Given the description of an element on the screen output the (x, y) to click on. 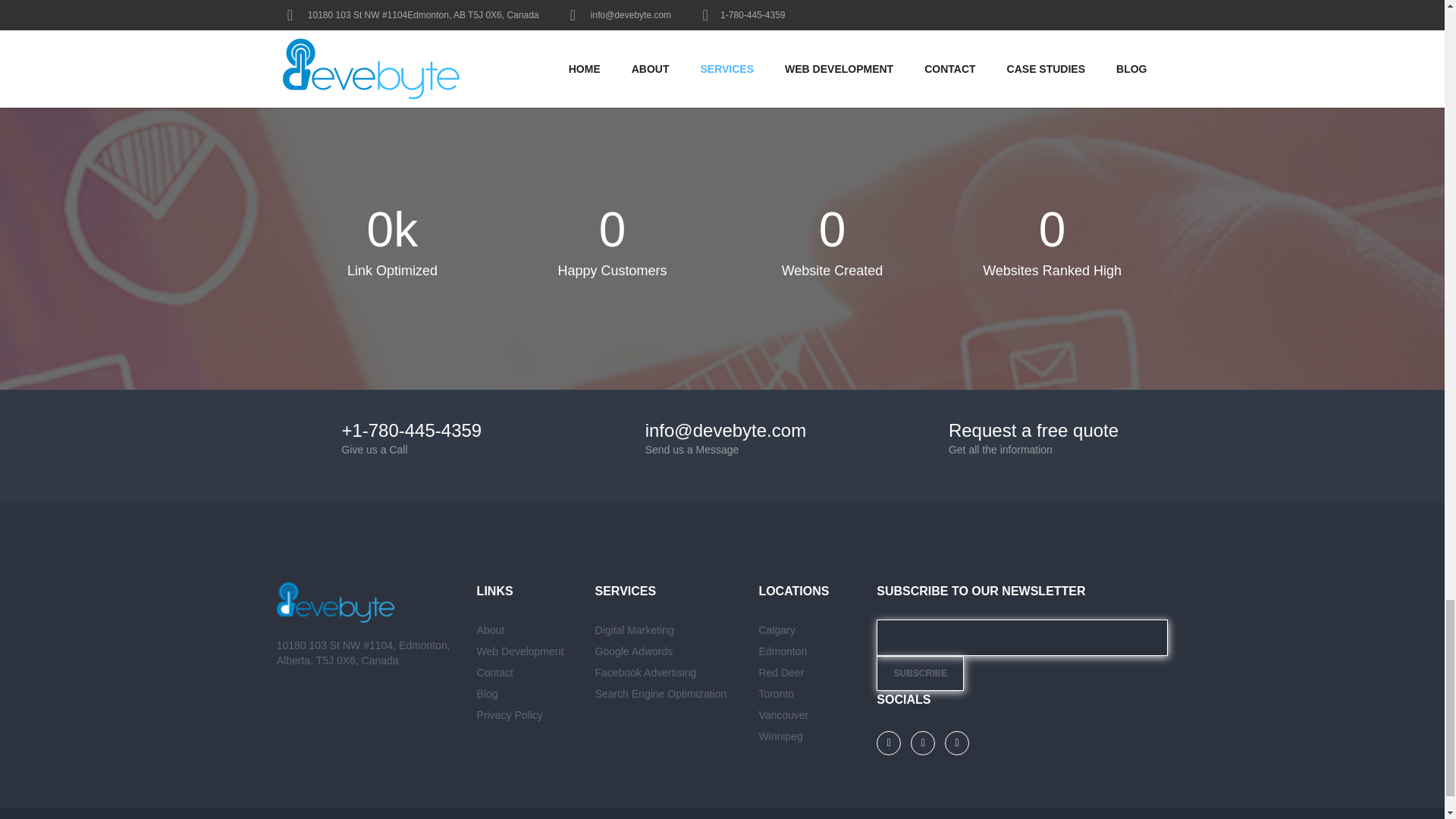
Privacy Policy (510, 715)
Web Development (520, 651)
VIEW MORE WORKS (721, 13)
Blog (487, 693)
Request a free quote (1033, 430)
Subscribe (919, 673)
About (491, 630)
Contact (495, 672)
